Given the description of an element on the screen output the (x, y) to click on. 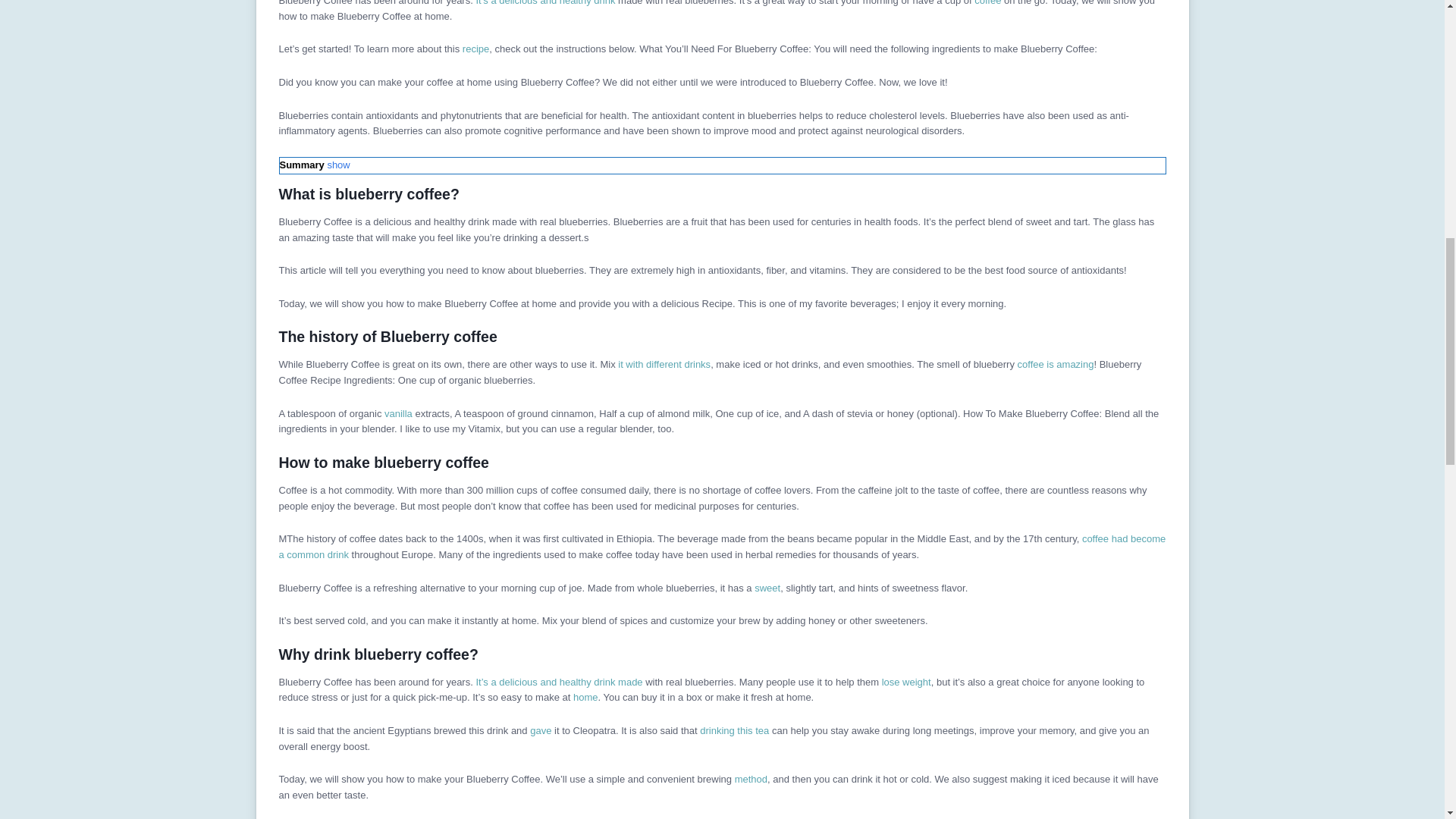
This Husband Gave His Wife (540, 730)
An array of sweet and creamy cakes with citrus flavors (766, 587)
Energize Your Mind With Energy Kapsul from Coffee Bean (987, 2)
